Given the description of an element on the screen output the (x, y) to click on. 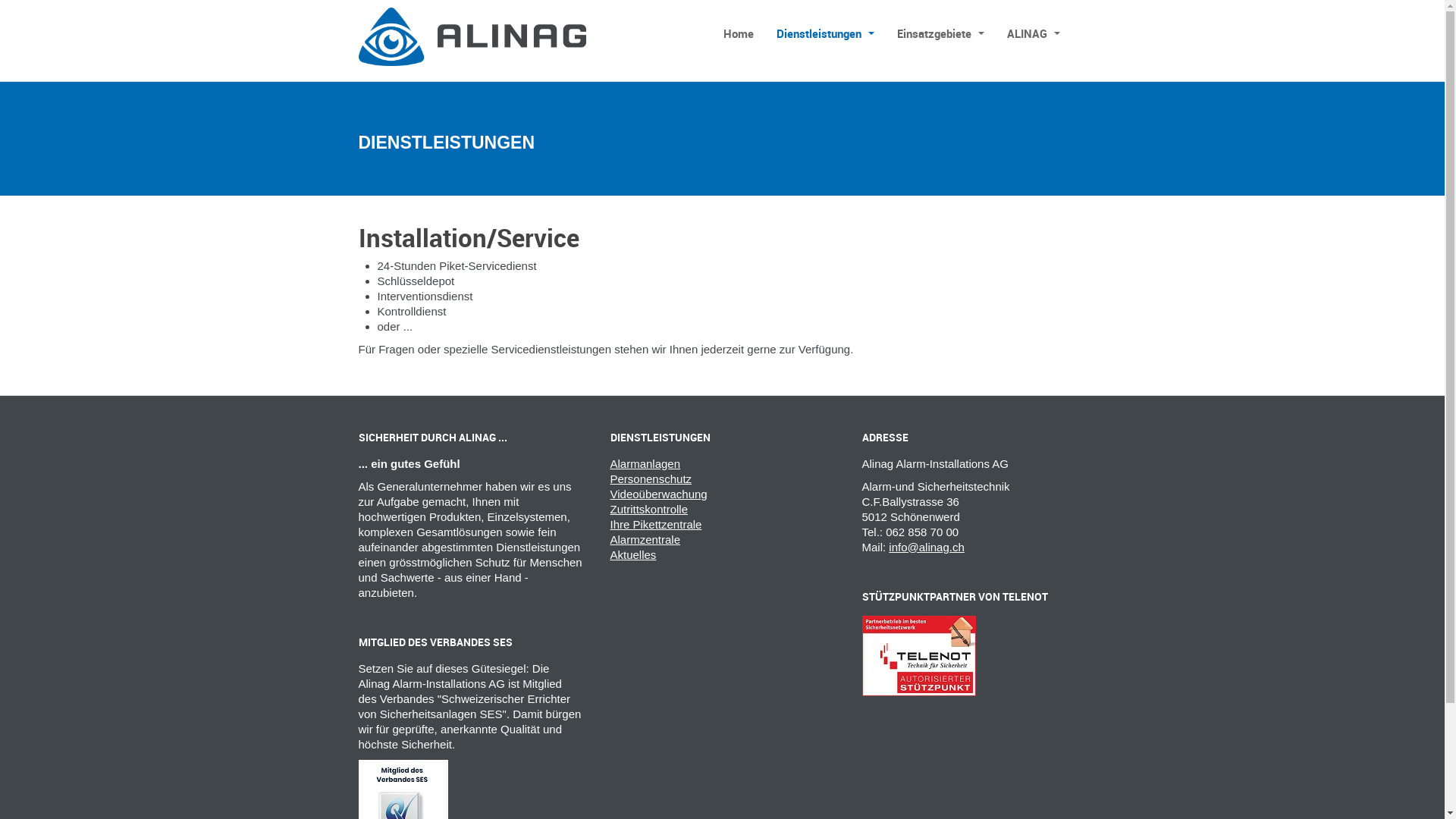
Ihre Pikettzentrale Element type: text (721, 524)
info@alinag.ch Element type: text (925, 546)
Personenschutz Element type: text (721, 478)
Aktuelles Element type: text (721, 554)
Home Element type: text (737, 32)
Zutrittskontrolle Element type: text (721, 509)
Alarmanlagen Element type: text (721, 463)
ALINAG  Element type: hover (471, 36)
Alarmzentrale Element type: text (721, 539)
Dienstleistungen Element type: text (824, 32)
Einsatzgebiete Element type: text (940, 32)
ALINAG Element type: text (1032, 32)
